Given the description of an element on the screen output the (x, y) to click on. 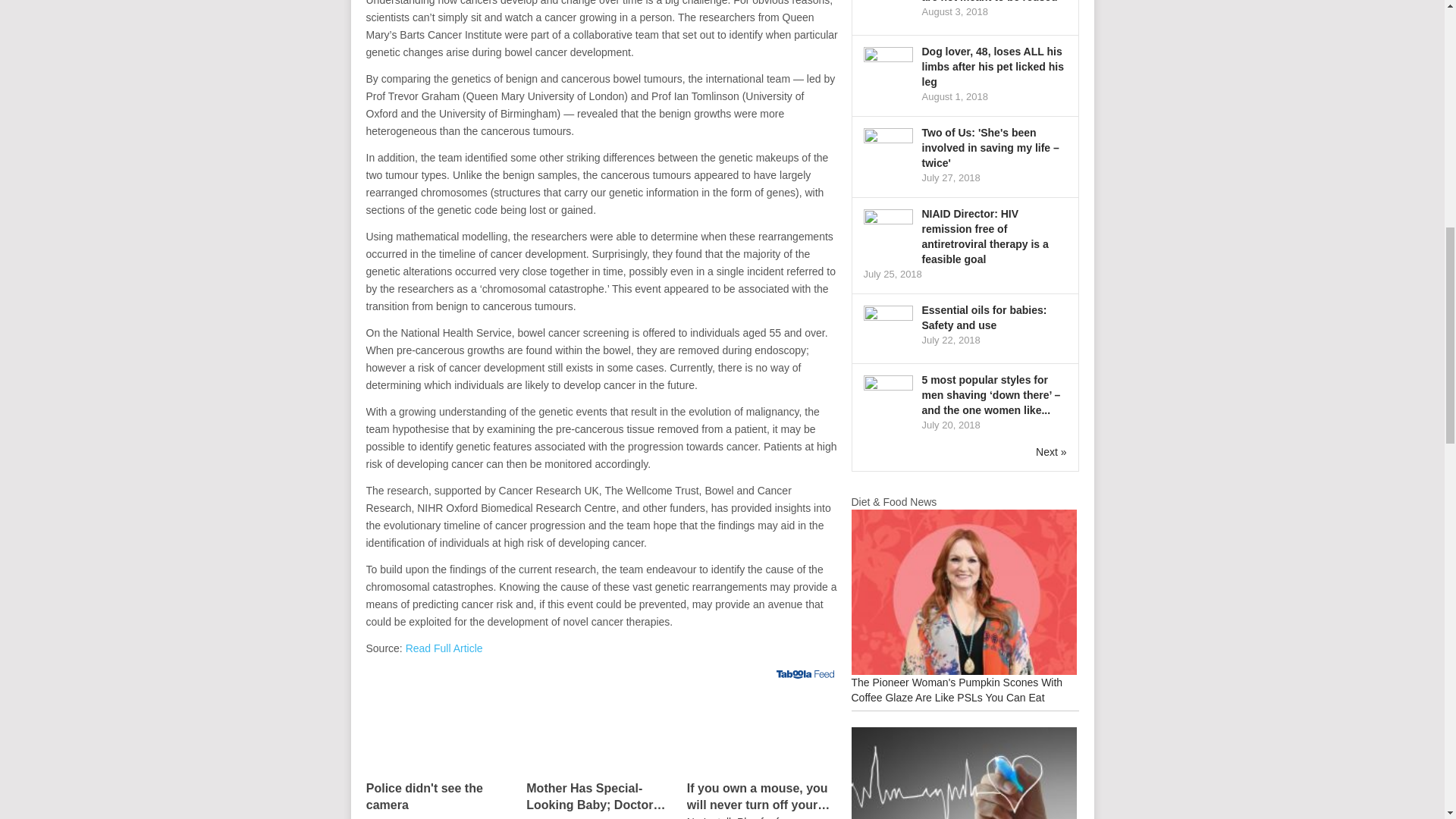
Police didn't see the camera (441, 799)
Read Full Article (444, 648)
"Description: No Install. Play for free." (762, 816)
Police didn't see the camera (441, 733)
